Given the description of an element on the screen output the (x, y) to click on. 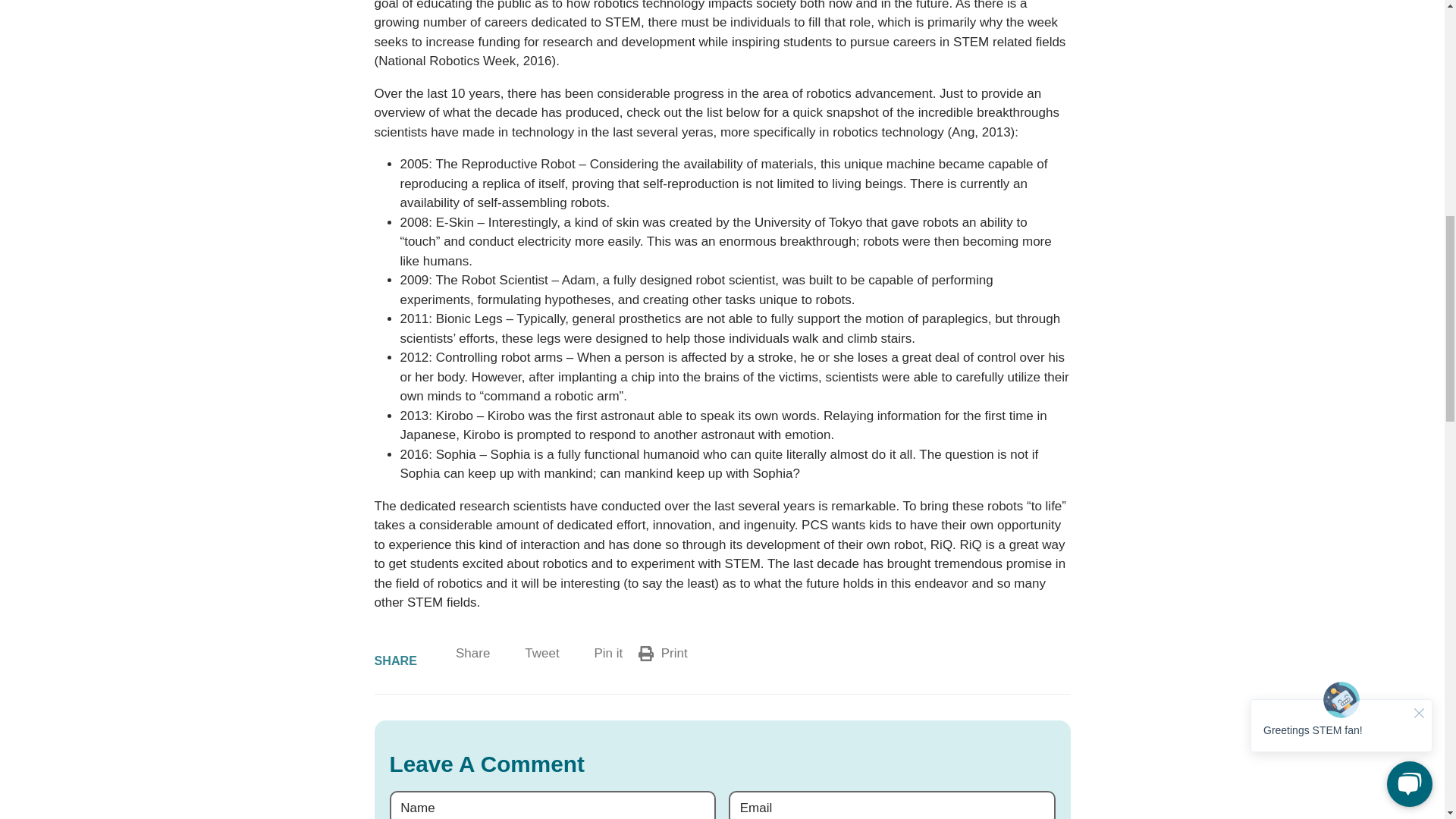
Print (463, 653)
